Given the description of an element on the screen output the (x, y) to click on. 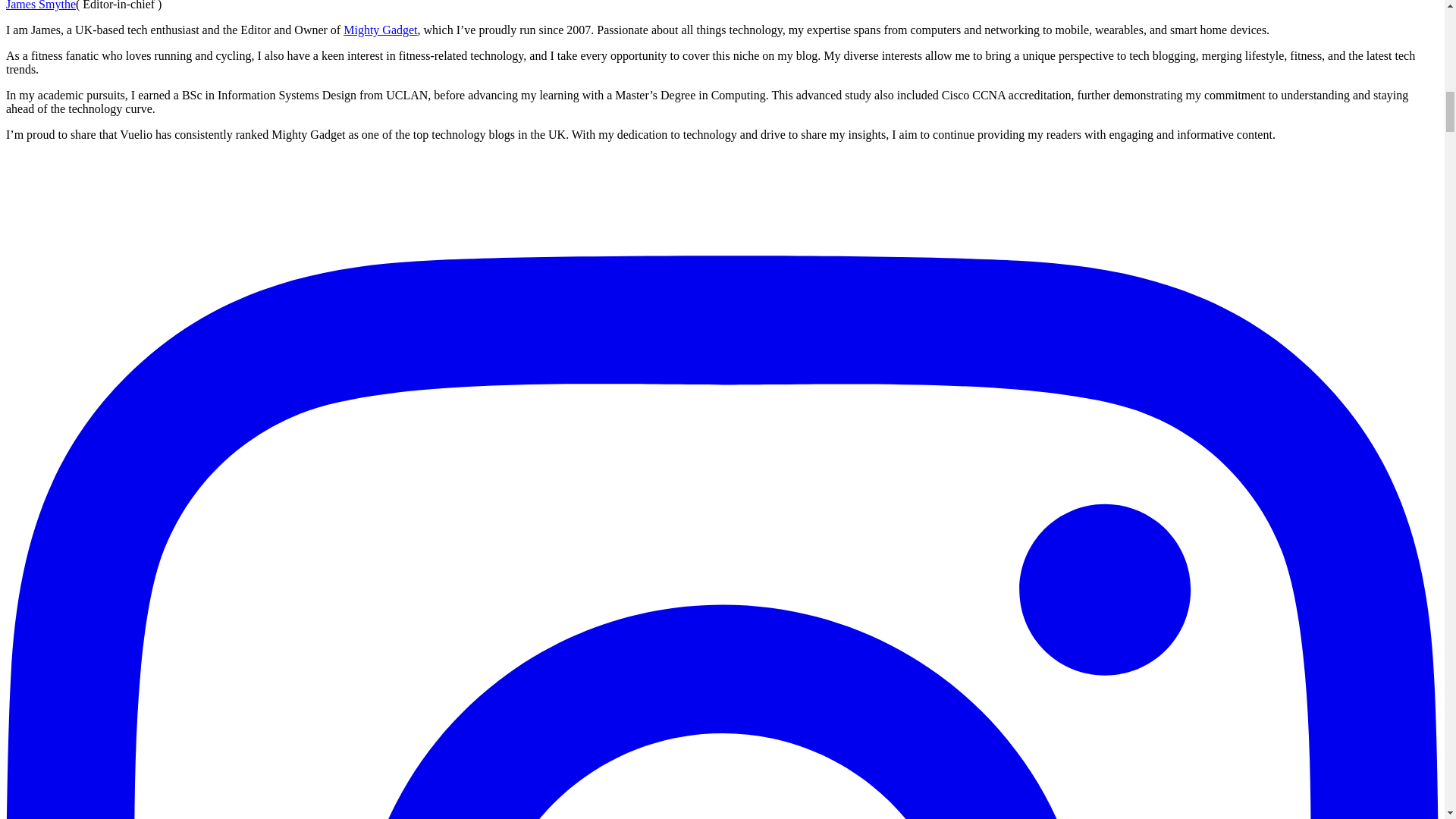
James Smythe (40, 5)
Mighty Gadget (379, 29)
